Given the description of an element on the screen output the (x, y) to click on. 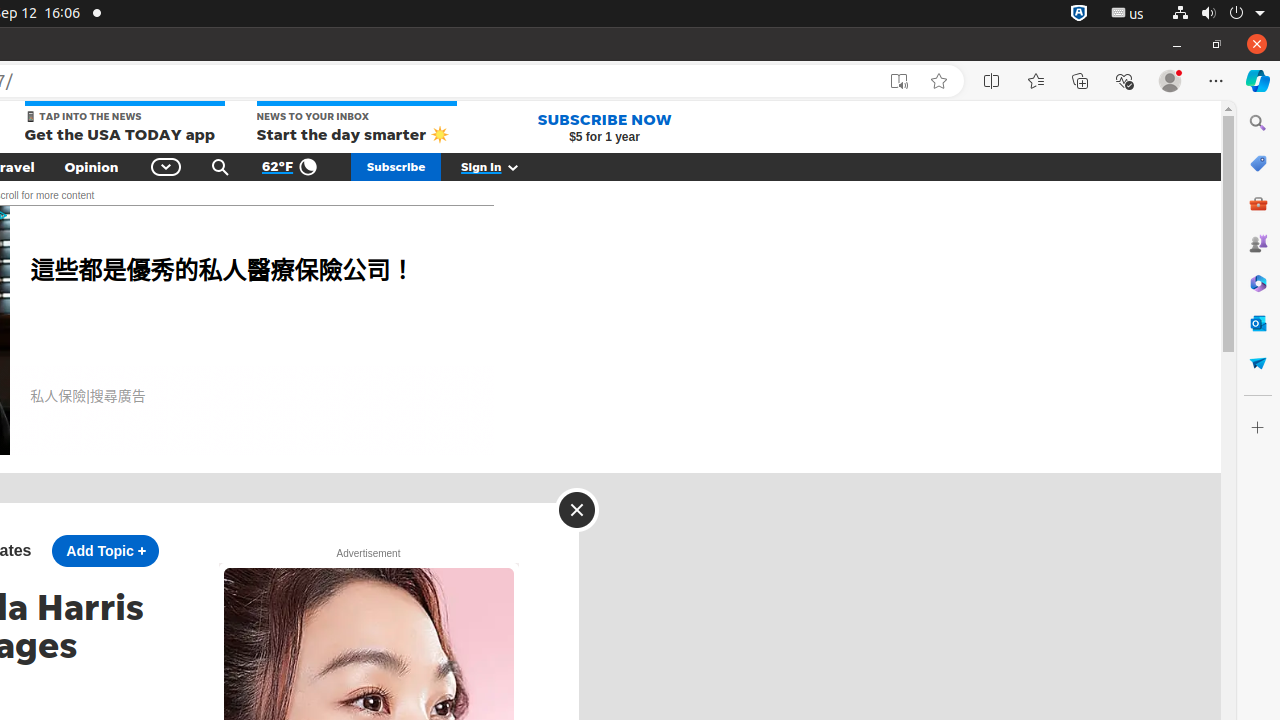
Split screen Element type: push-button (992, 81)
Customize Element type: push-button (1258, 428)
Add Topic Element type: push-button (105, 551)
Add this page to favorites (Ctrl+D) Element type: push-button (939, 81)
Browser essentials Element type: push-button (1124, 81)
